Given the description of an element on the screen output the (x, y) to click on. 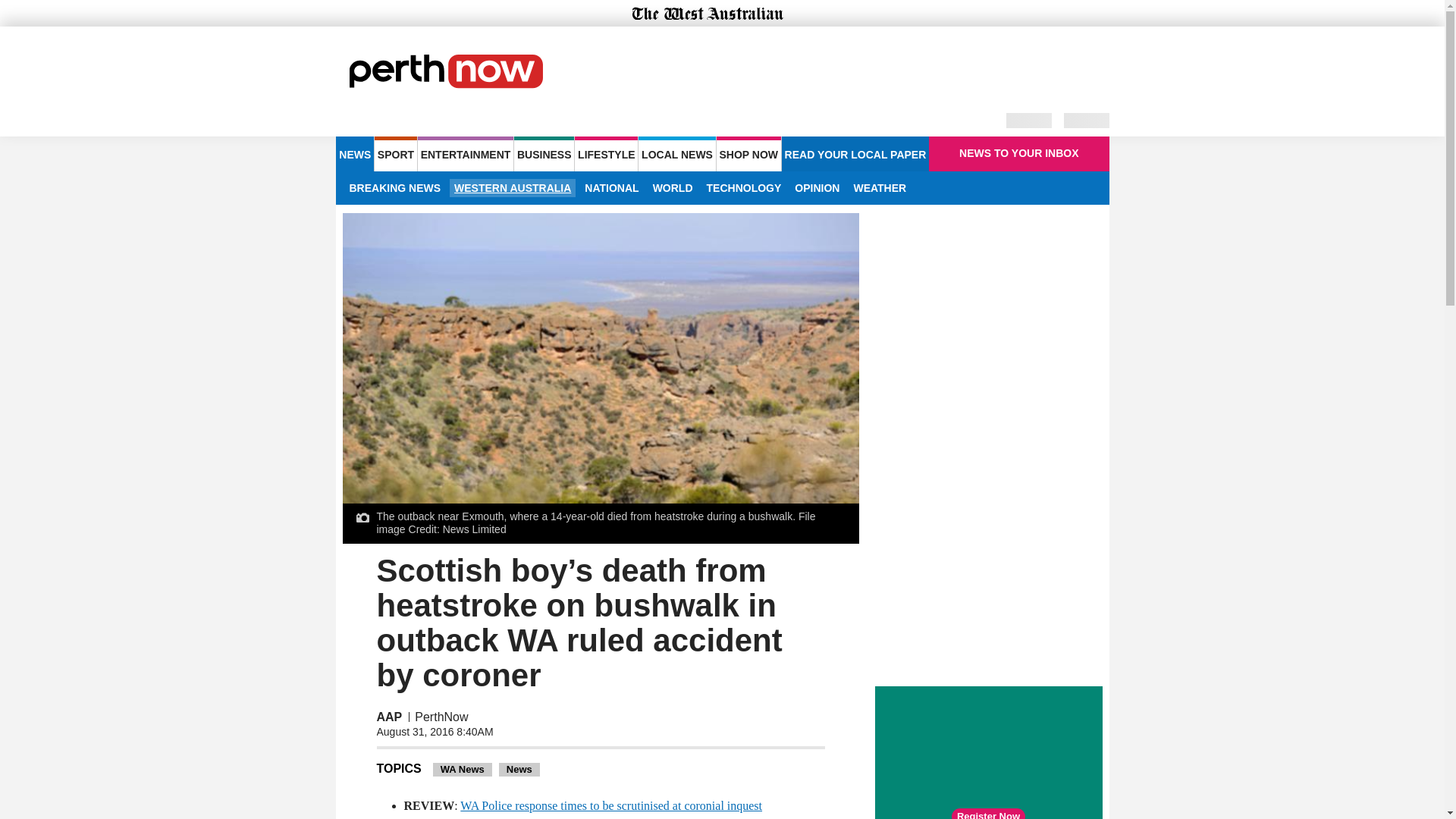
BUSINESS (543, 153)
ENTERTAINMENT (465, 153)
SPORT (395, 153)
NEWS (354, 153)
